Given the description of an element on the screen output the (x, y) to click on. 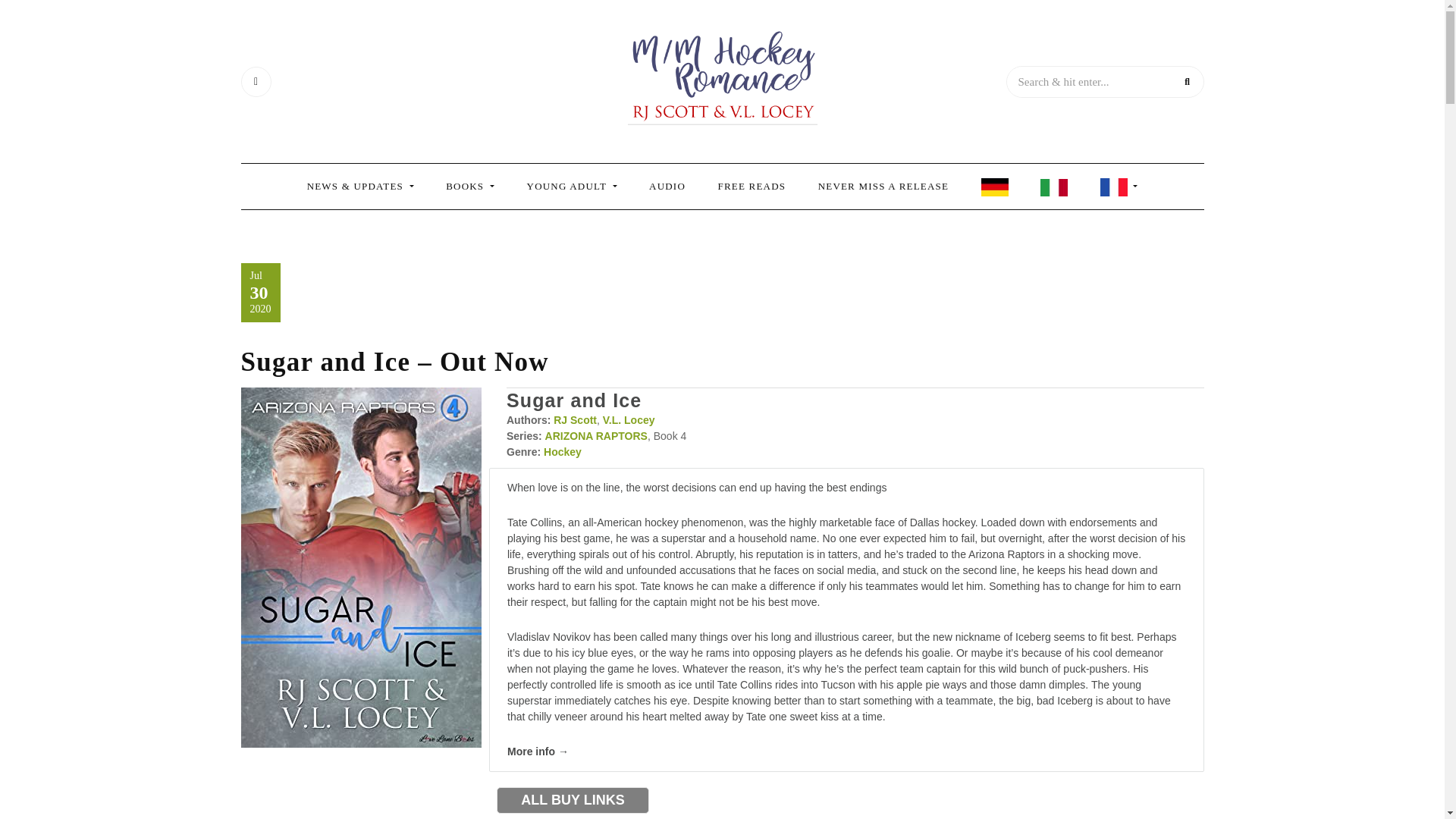
YOUNG ADULT (571, 186)
AUDIO (667, 186)
BOOKS (469, 186)
